Given the description of an element on the screen output the (x, y) to click on. 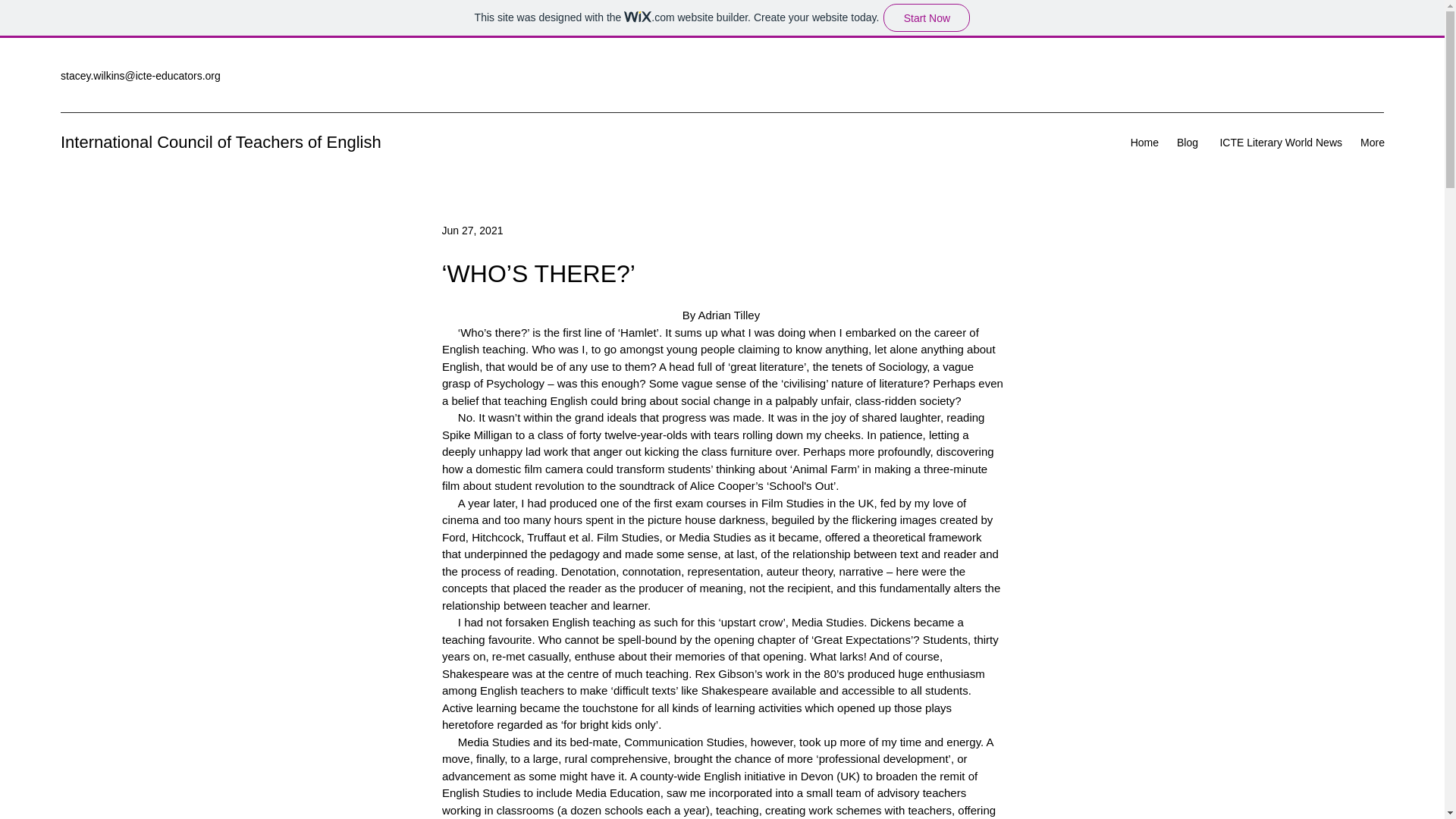
International Council of Teachers of English (221, 141)
Home (1142, 142)
Blog (1185, 142)
Jun 27, 2021 (471, 230)
ICTE Literary World News (1277, 142)
